Given the description of an element on the screen output the (x, y) to click on. 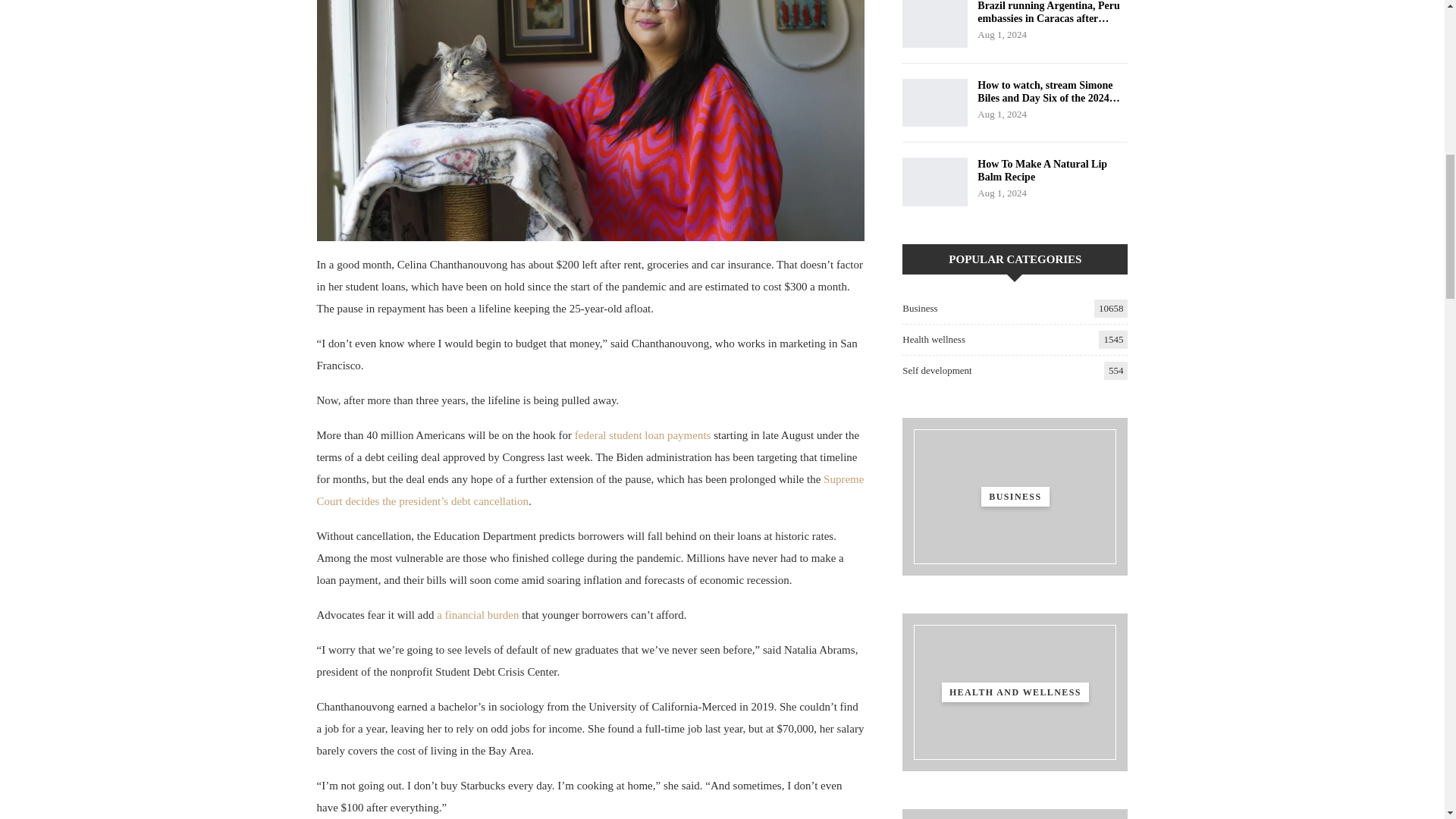
a financial burden (477, 614)
federal student loan payments (643, 435)
